Given the description of an element on the screen output the (x, y) to click on. 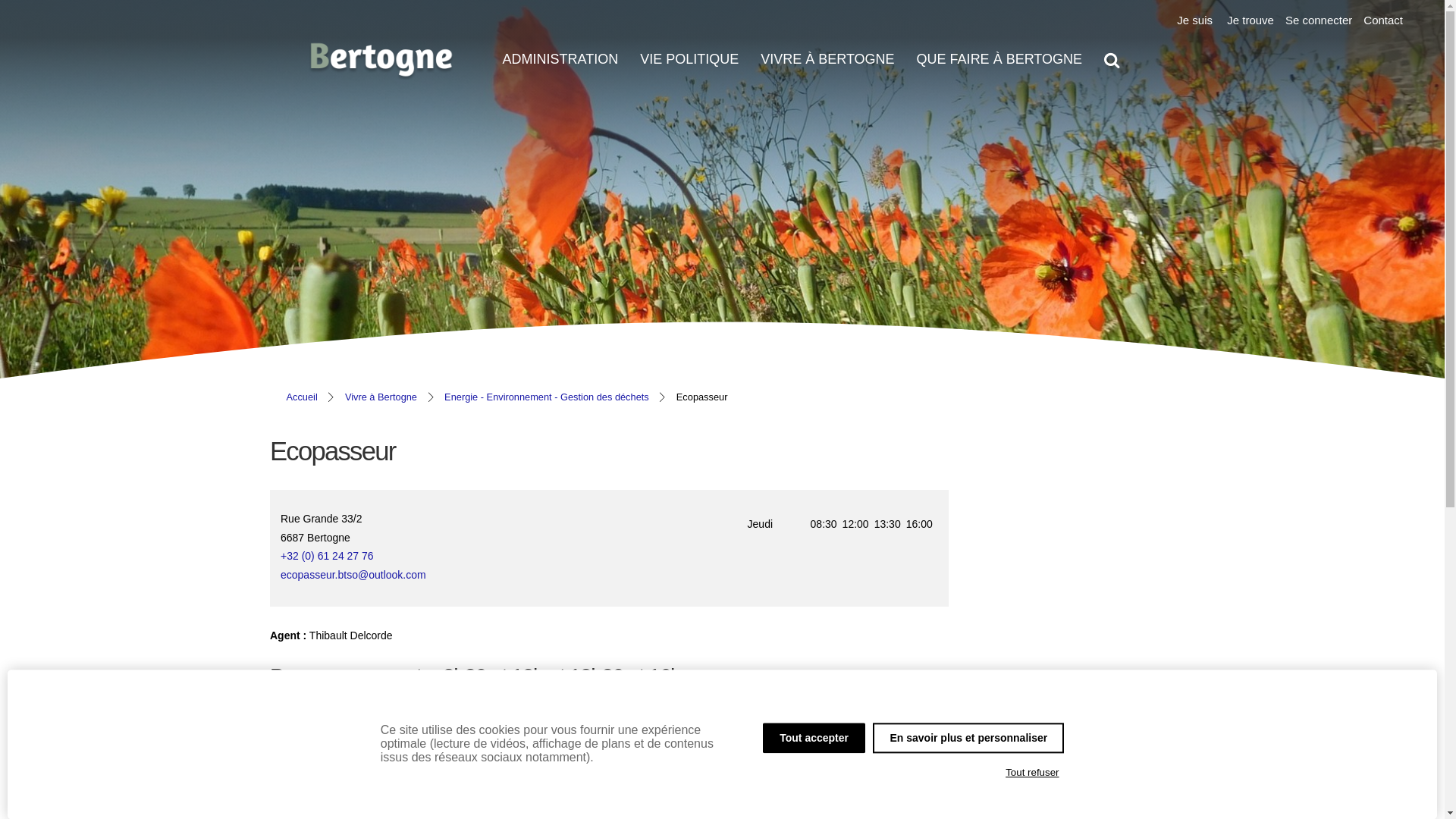
Bertogne Element type: hover (380, 59)
Bertogne Element type: hover (380, 72)
+32 (0) 61 24 27 76 Element type: text (444, 556)
En savoir plus et personnaliser Element type: text (967, 737)
Aller au contenu. Element type: text (1200, 57)
Tout accepter Element type: text (813, 737)
Tout refuser Element type: text (1032, 772)
ecopasseur.btso@outlook.com Element type: text (353, 574)
Je trouve Element type: text (1250, 19)
Contact Element type: text (1382, 19)
Se connecter Element type: text (1318, 19)
Je suis Element type: text (1194, 19)
VIE POLITIQUE Element type: text (689, 59)
Accueil Element type: text (301, 396)
ADMINISTRATION Element type: text (559, 59)
